Given the description of an element on the screen output the (x, y) to click on. 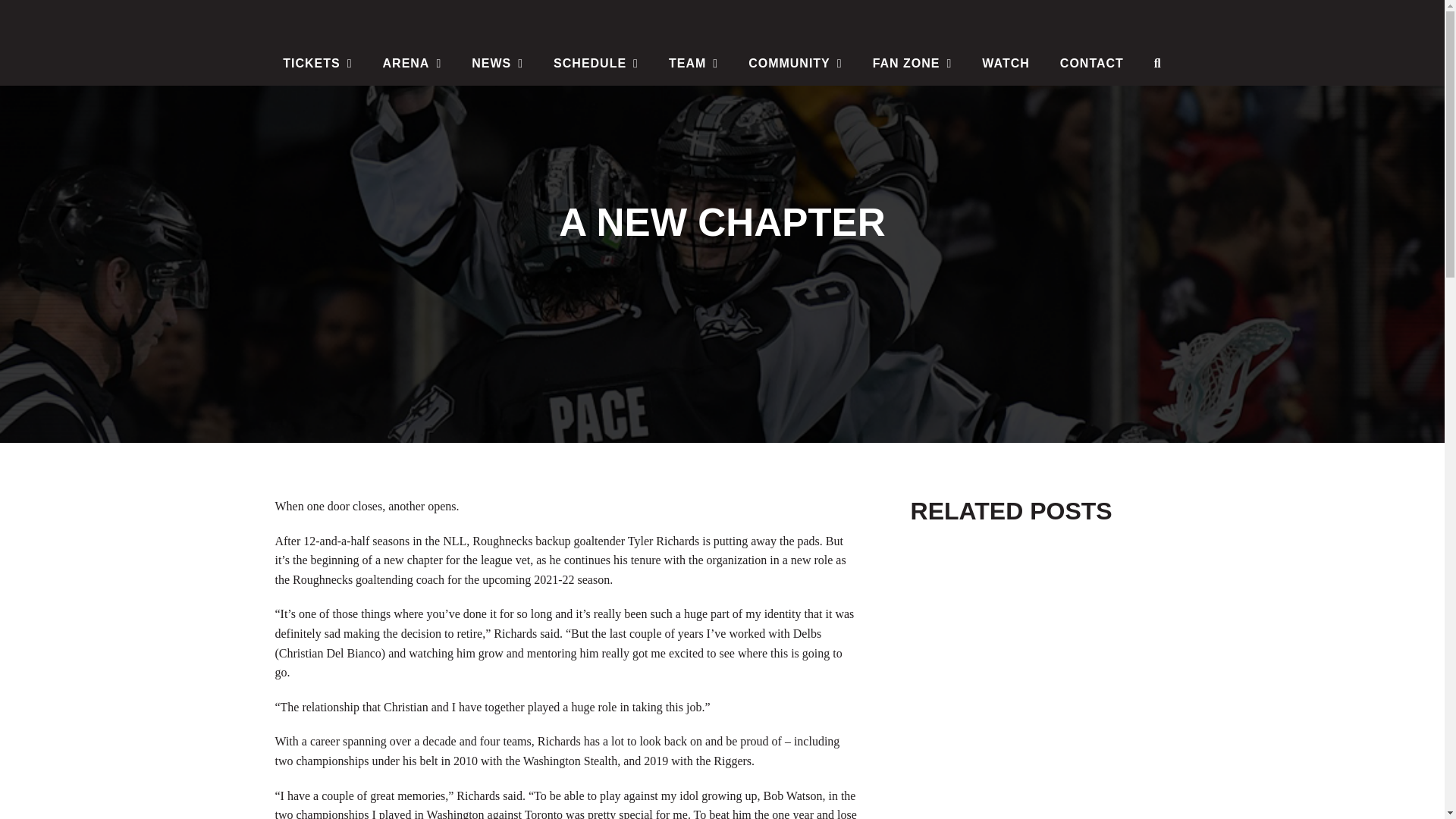
SCHEDULE (596, 64)
TEAM (692, 64)
TICKETS (317, 64)
ARENA (412, 64)
NEWS (496, 64)
